Given the description of an element on the screen output the (x, y) to click on. 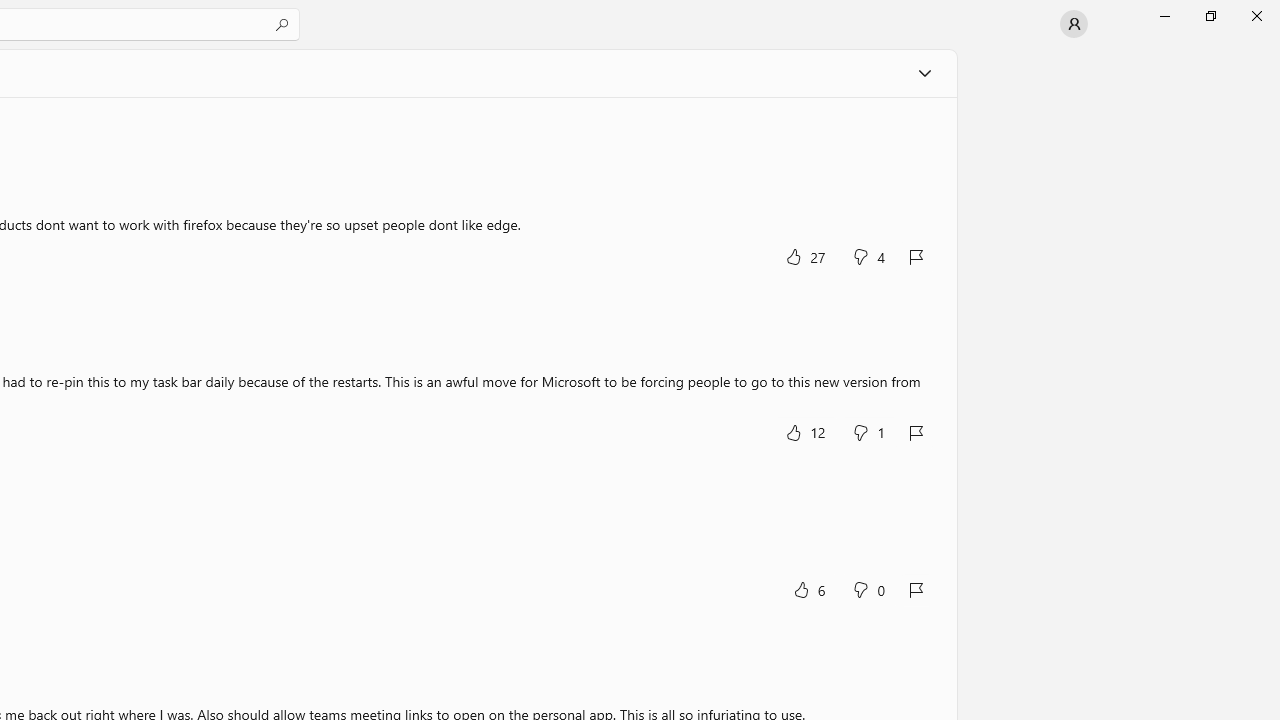
Yes, this was helpful. 12 votes. (805, 431)
No, this was not helpful. 1 votes. (868, 431)
Collapse Ratings and reviews (924, 72)
Restore Microsoft Store (1210, 15)
Yes, this was helpful. 27 votes. (805, 256)
User profile (1073, 24)
Yes, this was helpful. 6 votes. (807, 588)
No, this was not helpful. 0 votes. (868, 588)
Close Microsoft Store (1256, 15)
Minimize Microsoft Store (1164, 15)
No, this was not helpful. 4 votes. (868, 256)
Report review (917, 589)
